Given the description of an element on the screen output the (x, y) to click on. 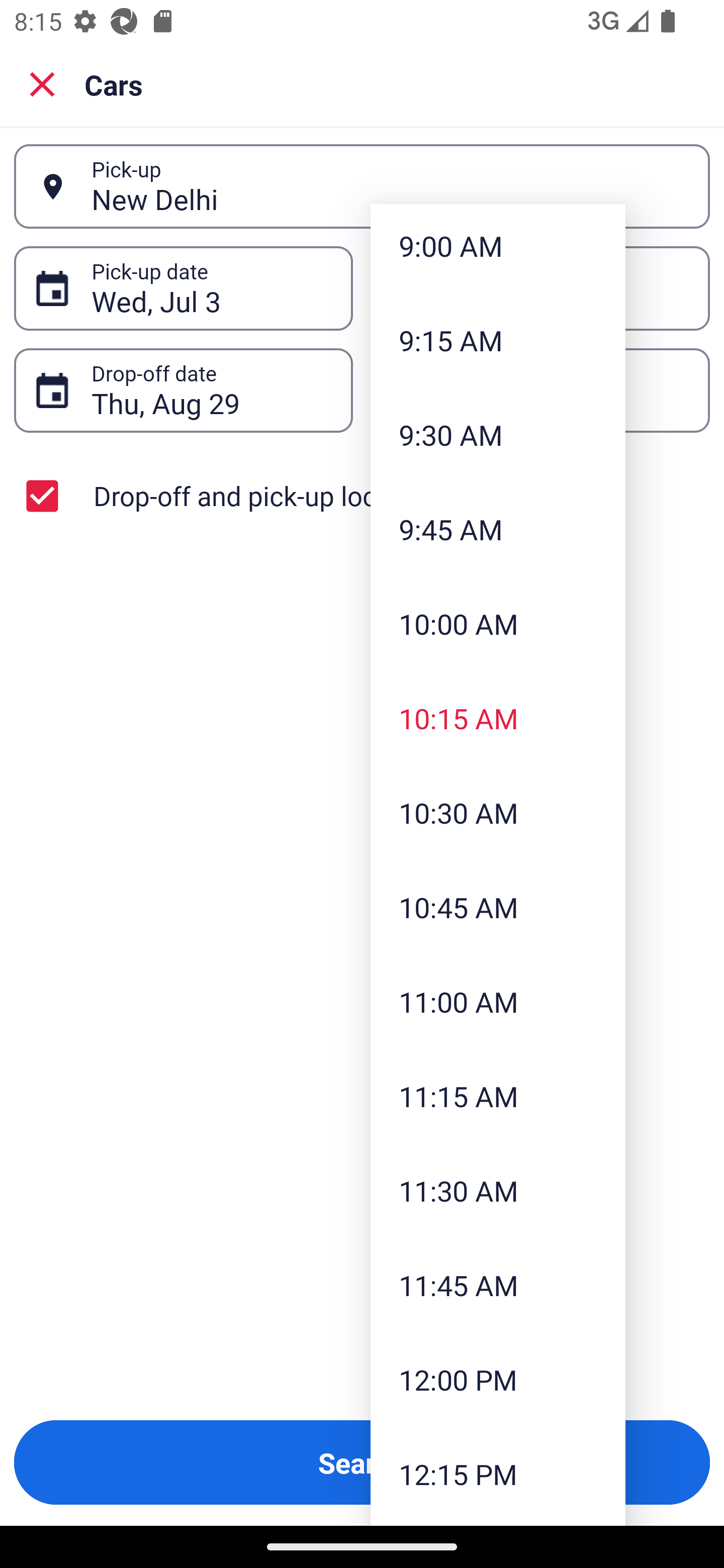
9:00 AM (497, 248)
9:15 AM (497, 340)
9:30 AM (497, 434)
9:45 AM (497, 529)
10:00 AM (497, 624)
10:15 AM (497, 718)
10:30 AM (497, 812)
10:45 AM (497, 906)
11:00 AM (497, 1001)
11:15 AM (497, 1095)
11:30 AM (497, 1190)
11:45 AM (497, 1284)
12:00 PM (497, 1379)
12:15 PM (497, 1473)
